Given the description of an element on the screen output the (x, y) to click on. 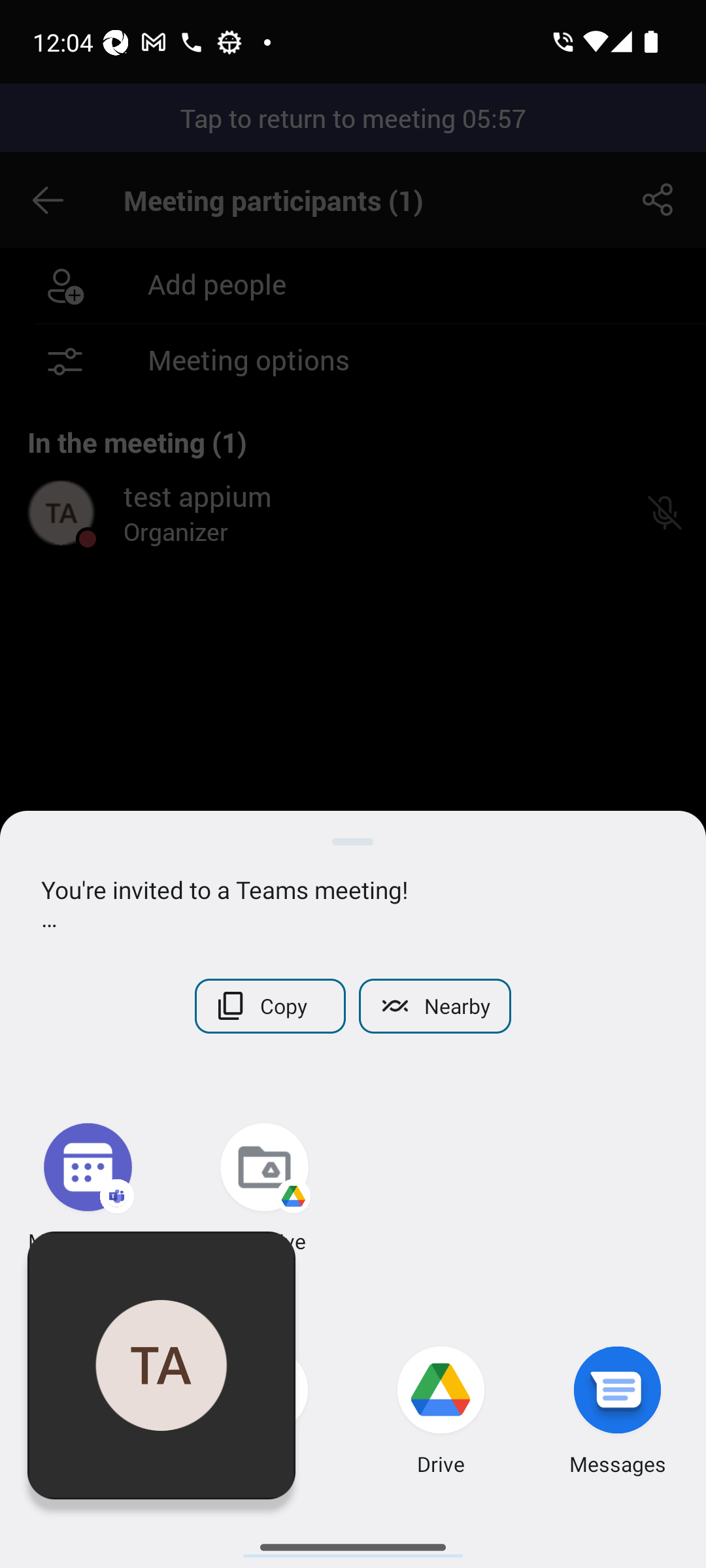
Copy (269, 1005)
Nearby (434, 1005)
Drive (441, 1414)
Messages (617, 1414)
